Given the description of an element on the screen output the (x, y) to click on. 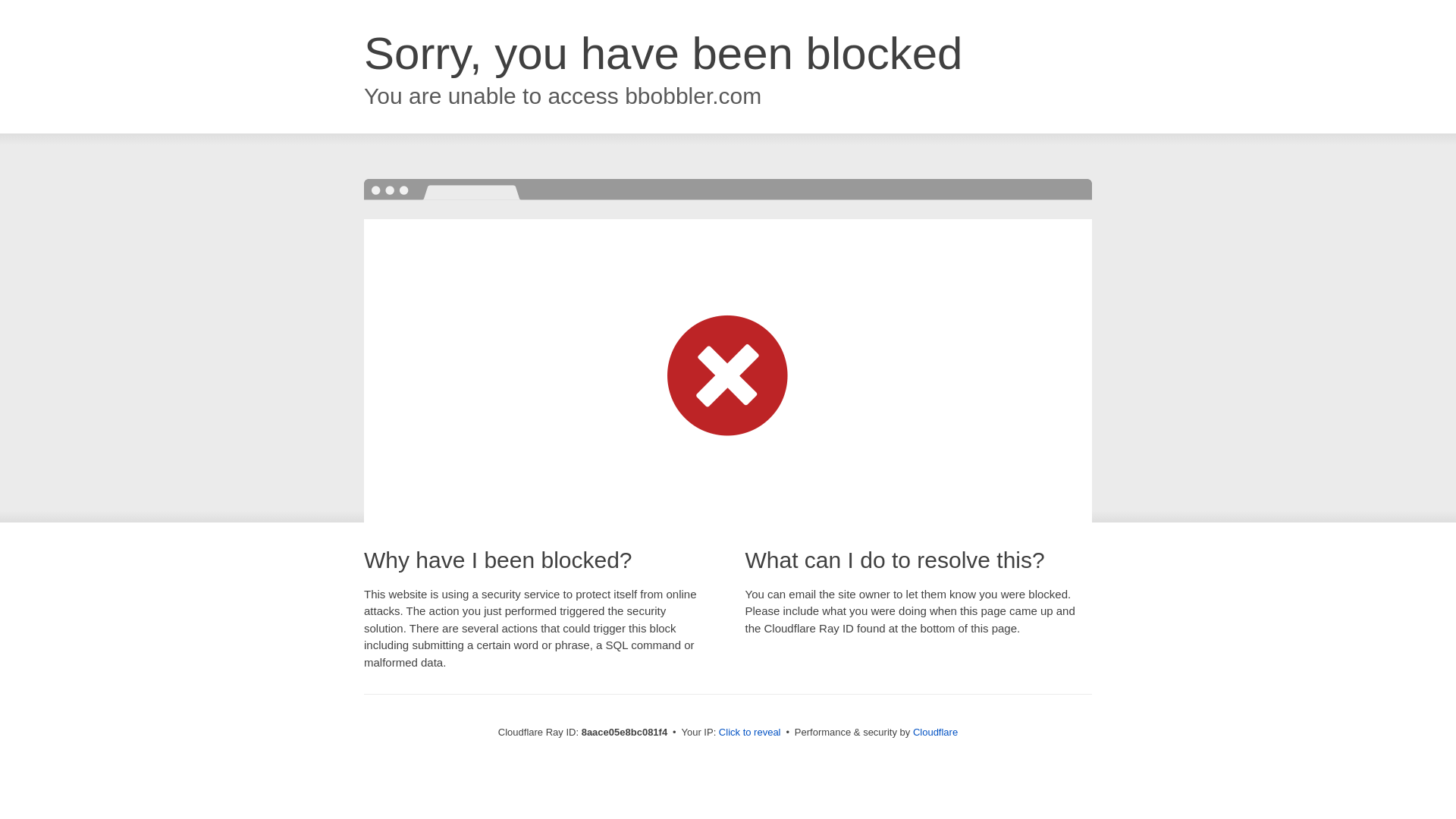
Click to reveal (749, 732)
Cloudflare (935, 731)
